Given the description of an element on the screen output the (x, y) to click on. 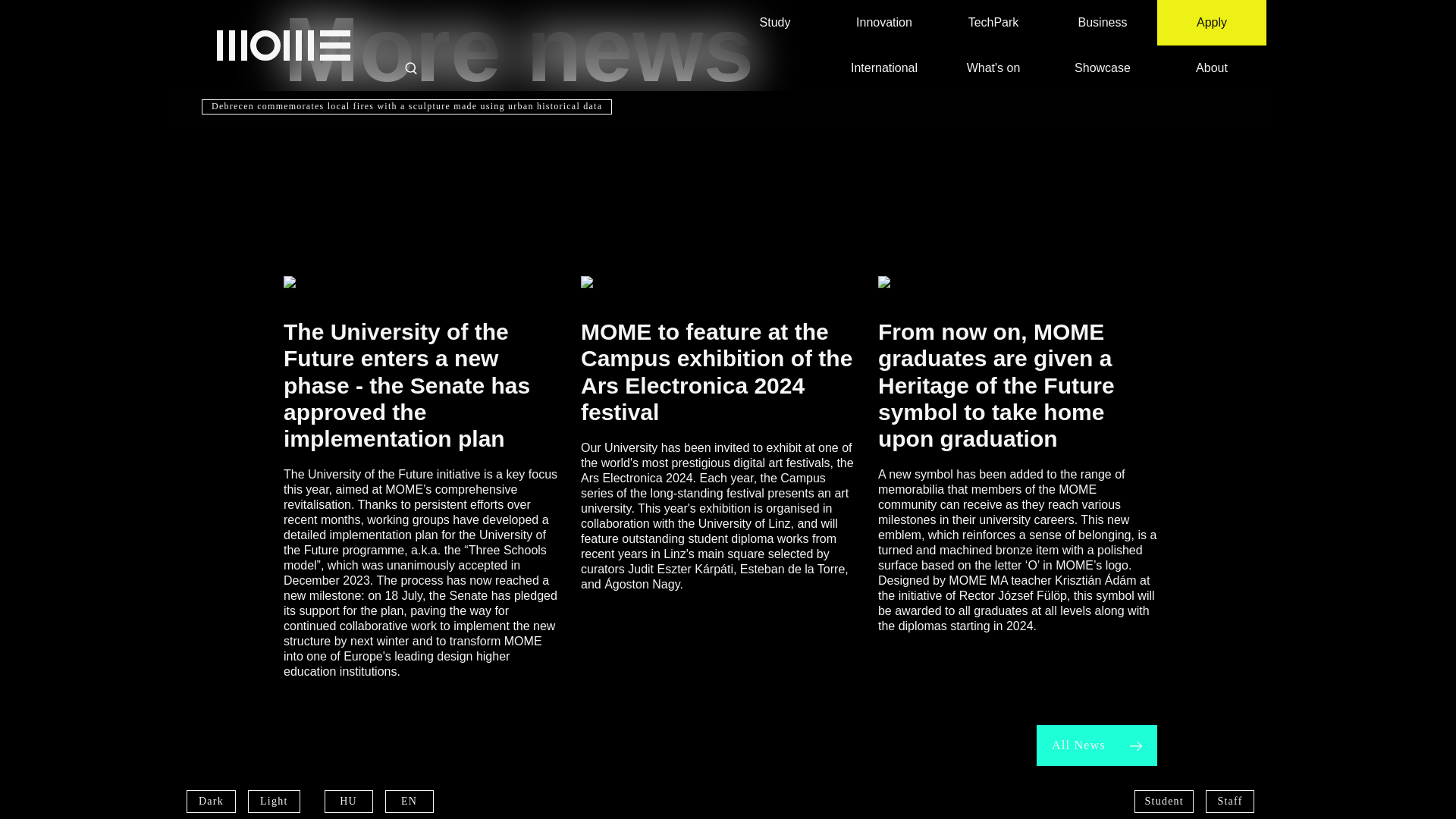
All News (1096, 744)
